Given the description of an element on the screen output the (x, y) to click on. 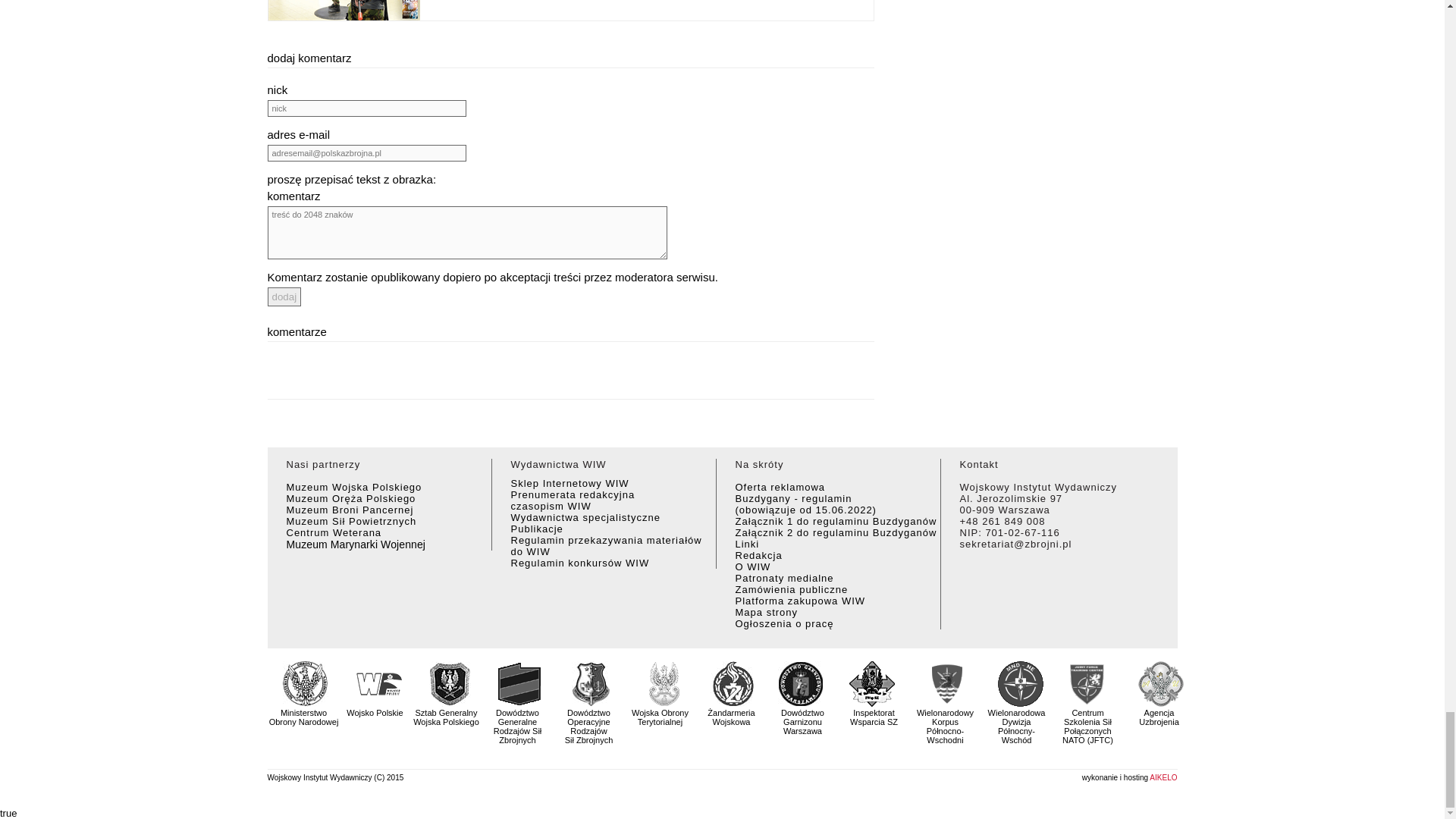
dodaj (283, 296)
